Given the description of an element on the screen output the (x, y) to click on. 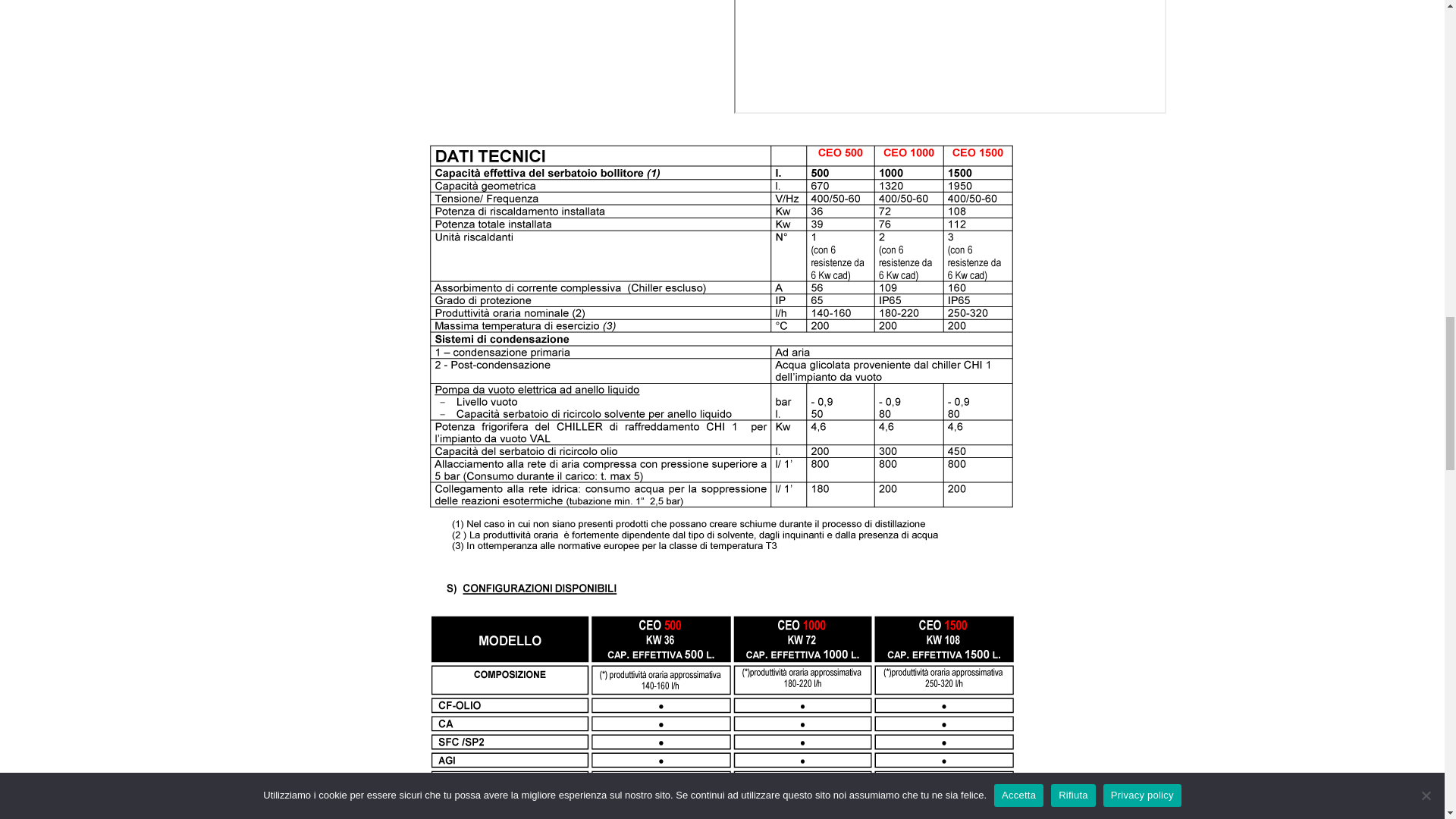
MAV - Impianto di rigenerazione solvente (949, 57)
